Given the description of an element on the screen output the (x, y) to click on. 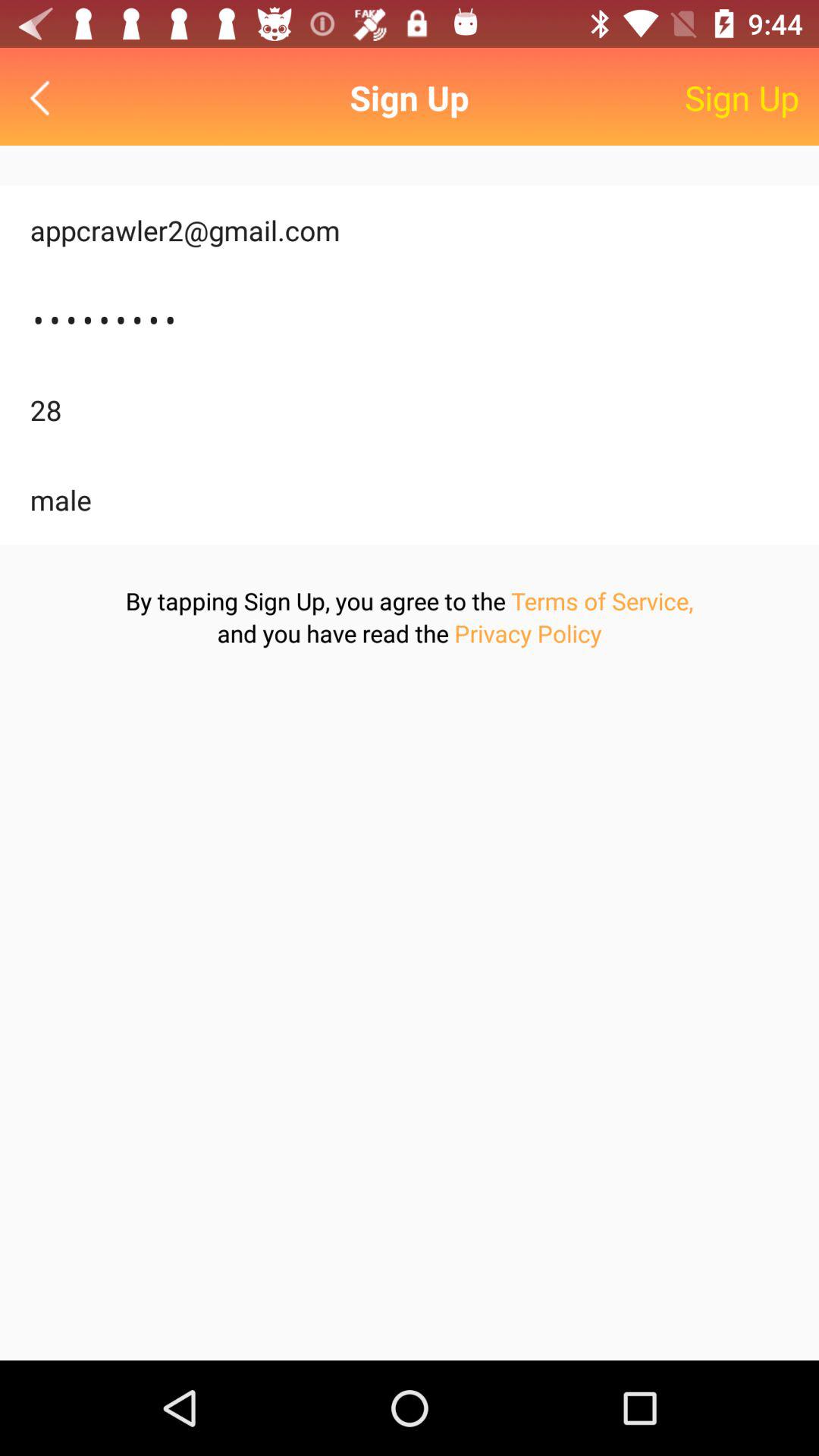
select icon to the right of the by tapping sign icon (602, 600)
